Given the description of an element on the screen output the (x, y) to click on. 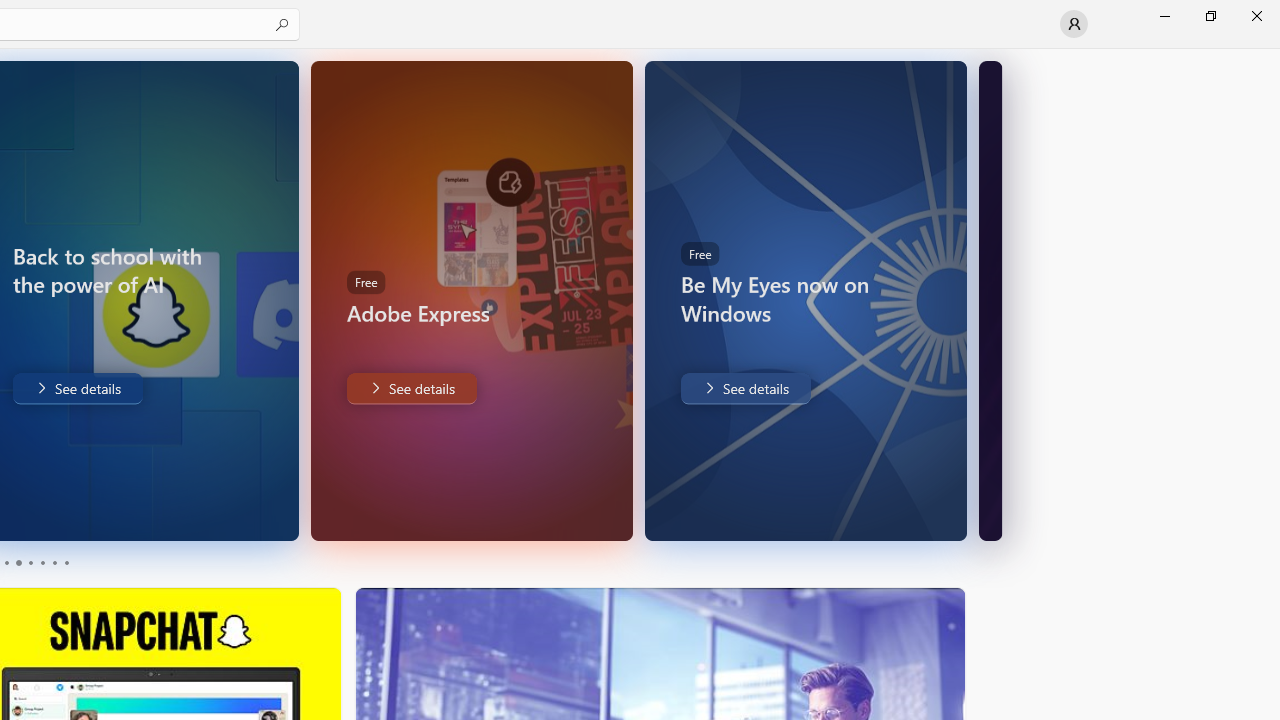
Page 1 (5, 562)
AutomationID: Image (989, 300)
Page 6 (65, 562)
Pager (35, 562)
User profile (1073, 24)
Close Microsoft Store (1256, 15)
Page 2 (17, 562)
Minimize Microsoft Store (1164, 15)
Page 4 (41, 562)
Page 5 (54, 562)
Page 3 (29, 562)
Restore Microsoft Store (1210, 15)
